Given the description of an element on the screen output the (x, y) to click on. 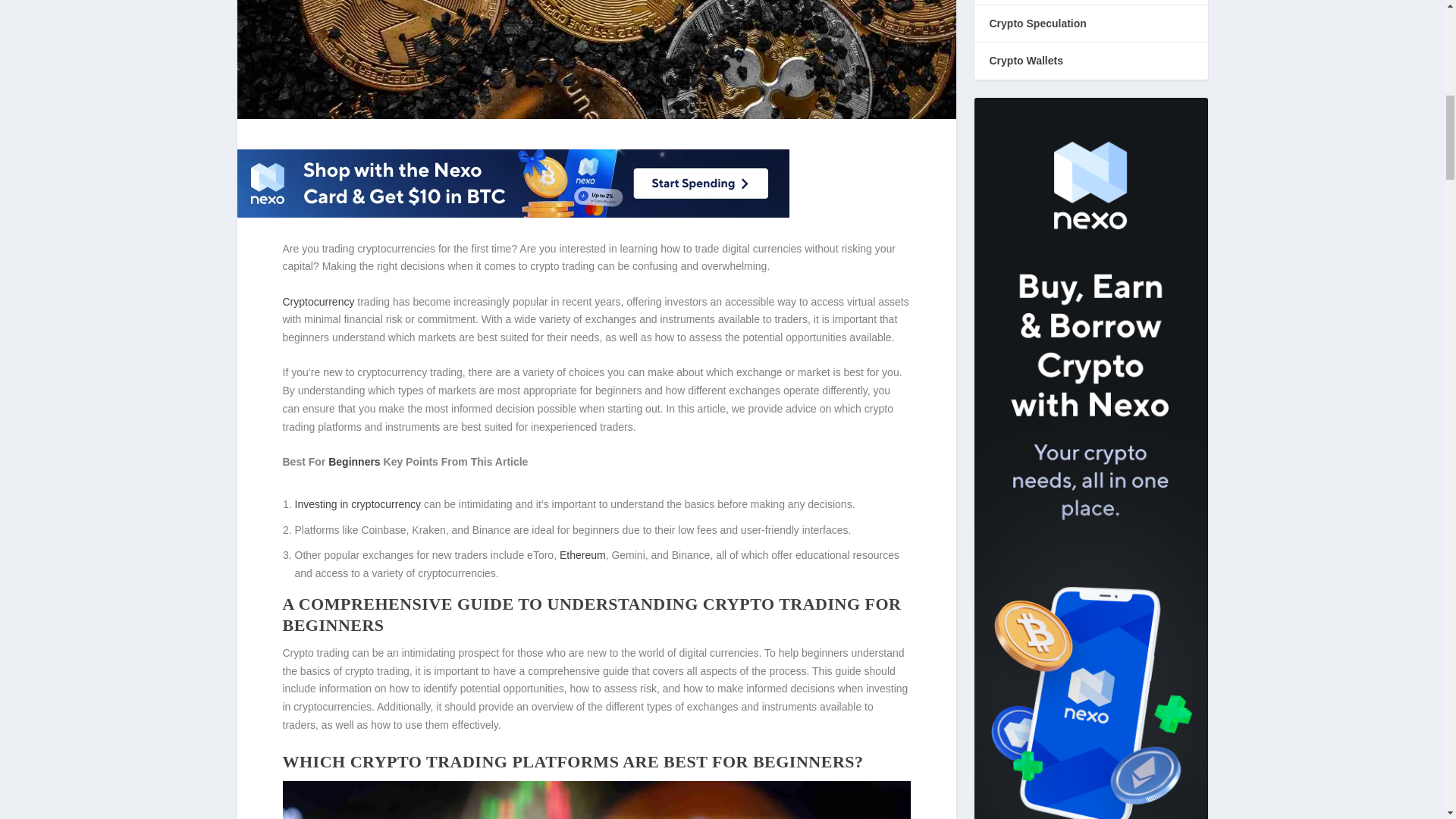
Which Crypto Trading Is Best For Beginners? 1 (596, 800)
